Given the description of an element on the screen output the (x, y) to click on. 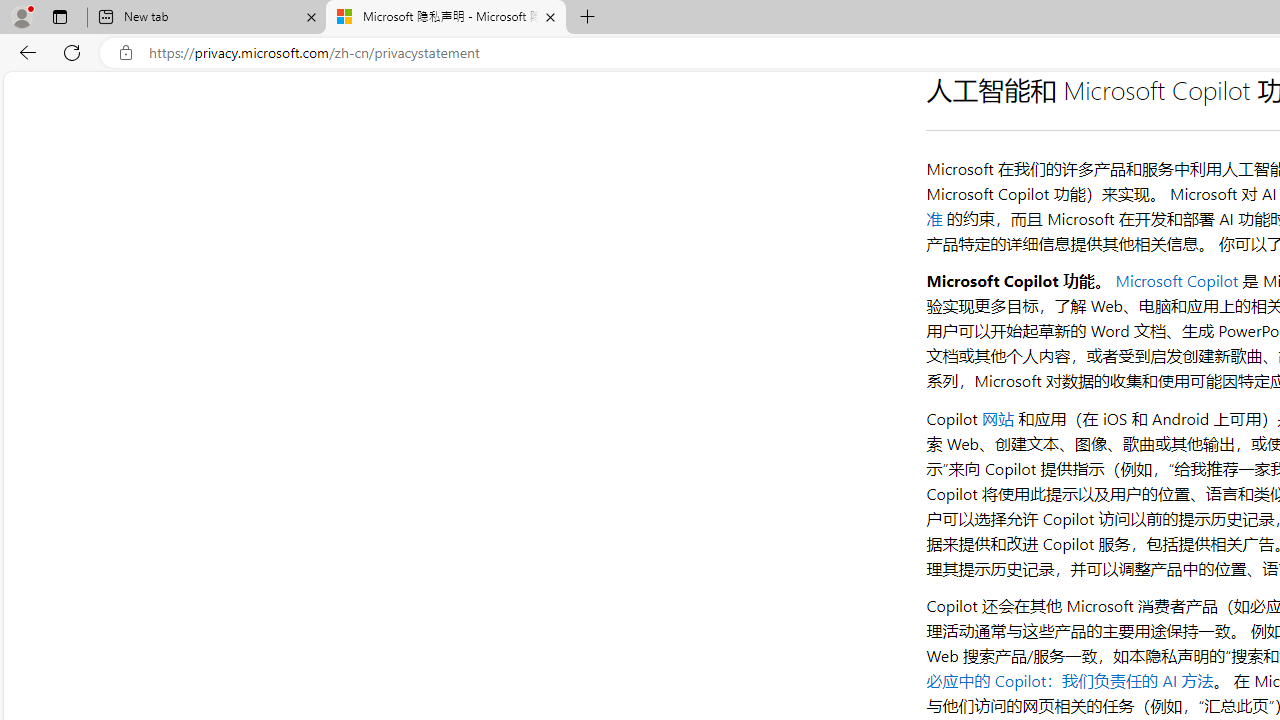
Microsoft Copilot (1176, 281)
